Given the description of an element on the screen output the (x, y) to click on. 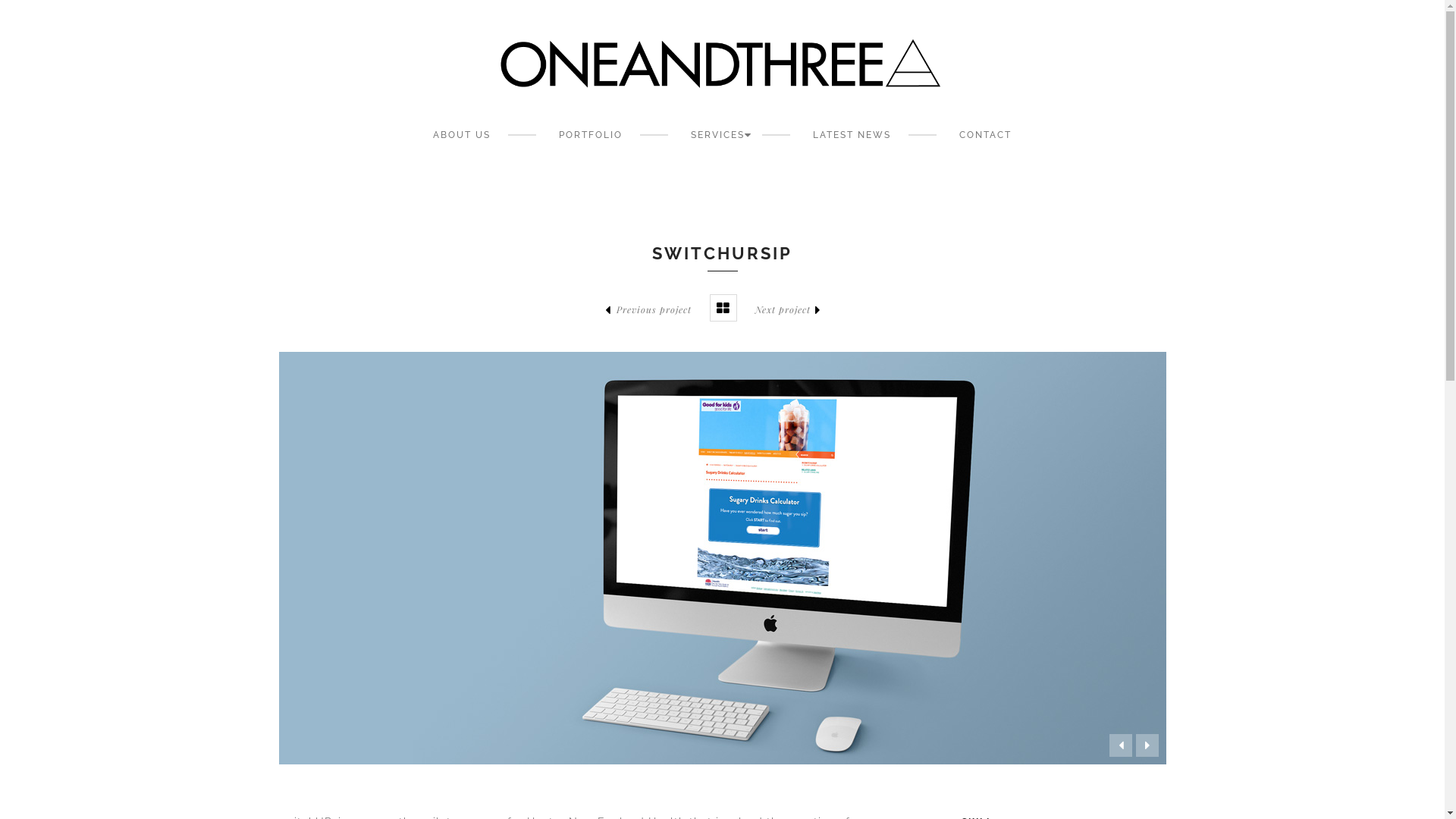
SERVICES Element type: text (717, 134)
ABOUT US Element type: text (461, 134)
Next project Element type: text (789, 309)
CONTACT Element type: text (985, 134)
PORTFOLIO Element type: text (590, 134)
LATEST NEWS Element type: text (851, 134)
Previous project Element type: text (648, 309)
